Given the description of an element on the screen output the (x, y) to click on. 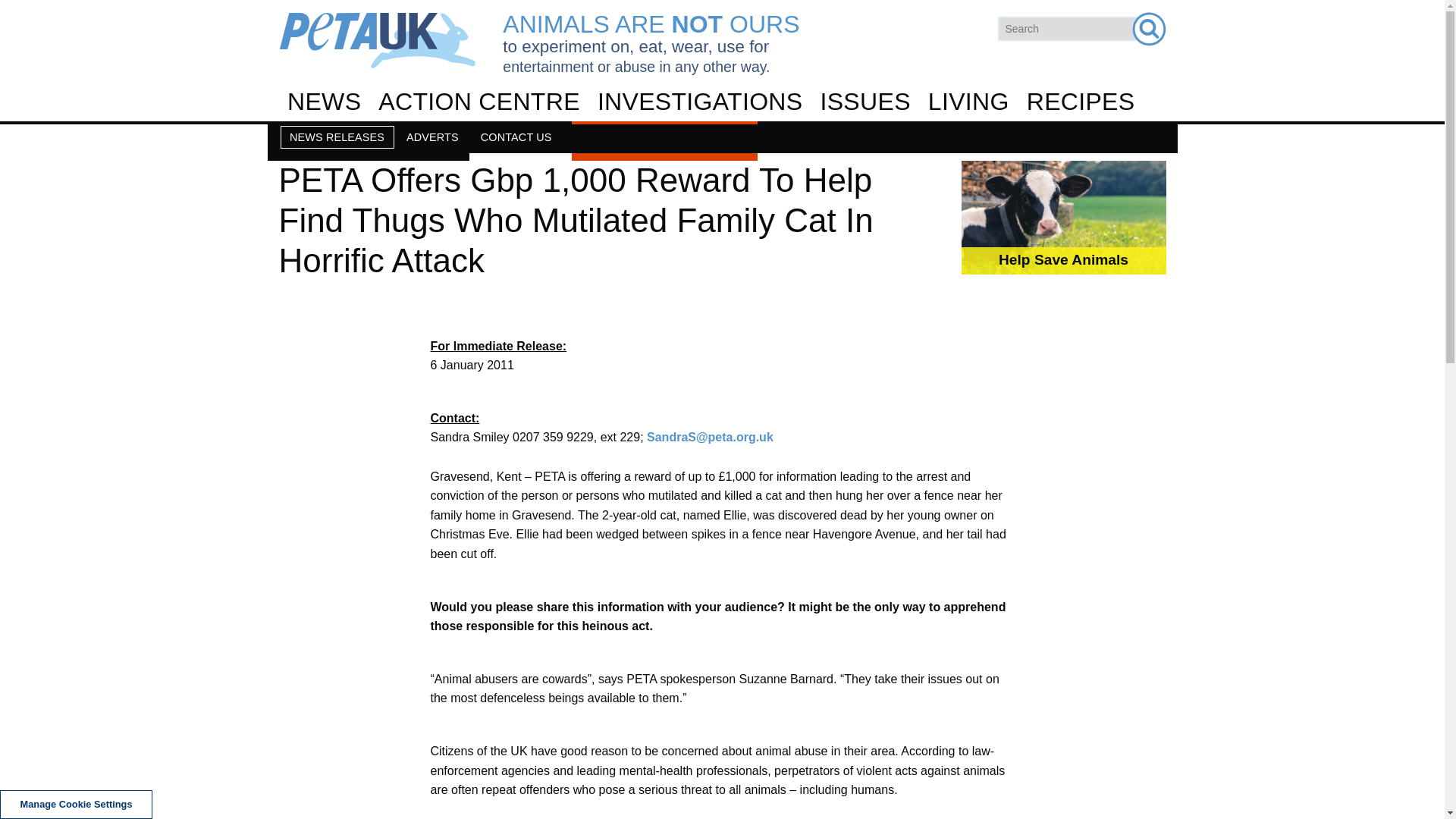
ACTIVIST RESOURCES (721, 225)
Submit (1148, 28)
ACTION CENTRE (479, 101)
MEDICAL EXPERIMENTS (721, 271)
USE FOR ENTERTAINMENT (721, 304)
Submit (1148, 28)
ACTION ALERTS (728, 147)
WEAR (721, 265)
INVESTIGATIONS (699, 101)
CHEMICAL TESTING (728, 192)
COSMETICS TESTING (721, 231)
ANIMALS IN EDUCATION AND TRAINING (721, 310)
NEWS (324, 101)
ISSUES (864, 101)
NON-ANIMAL METHODS (721, 350)
